Given the description of an element on the screen output the (x, y) to click on. 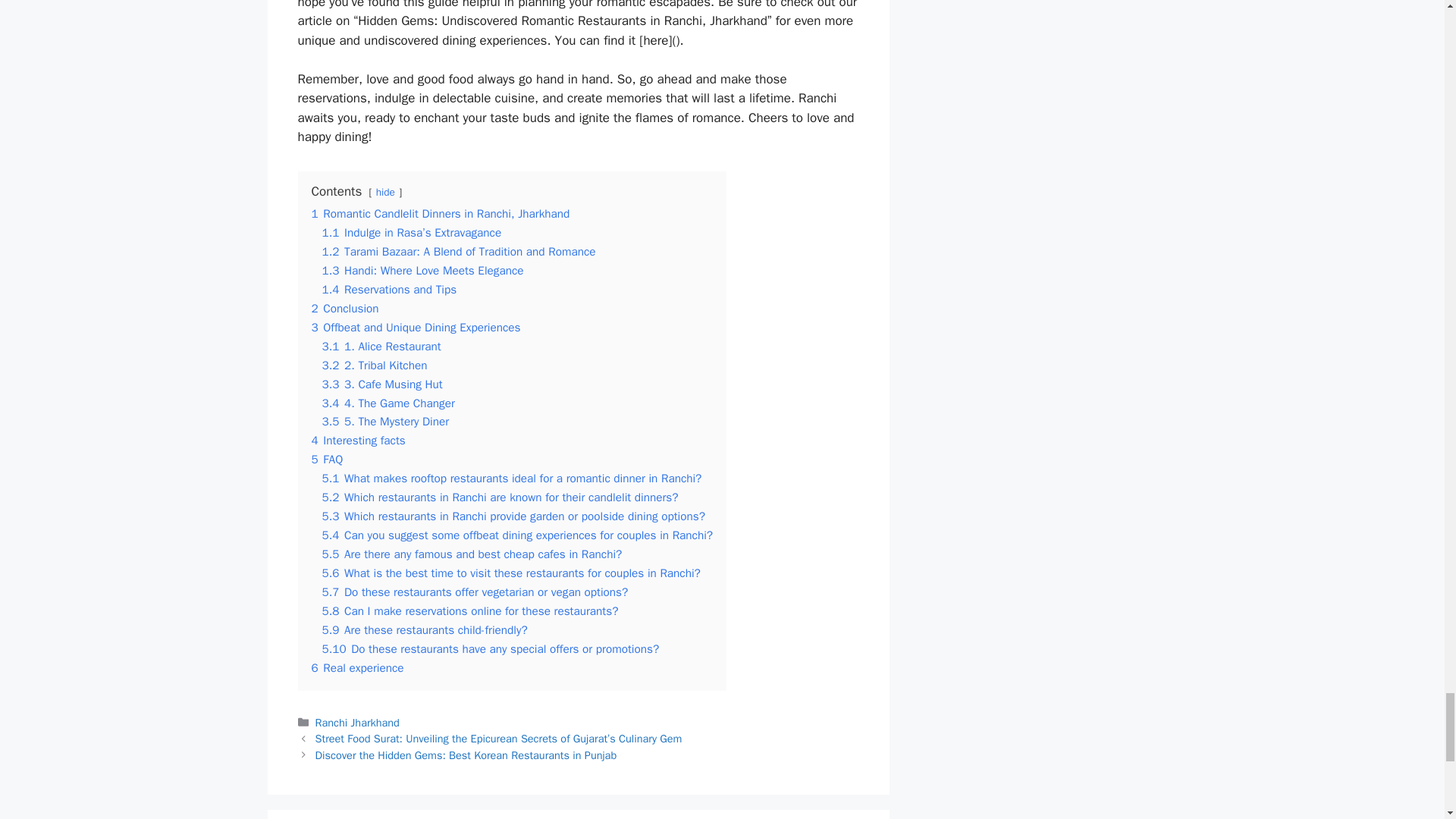
hide (384, 192)
3.3 3. Cafe Musing Hut (381, 384)
3.5 5. The Mystery Diner (384, 421)
2 Conclusion (344, 308)
1.4 Reservations and Tips (389, 289)
